Given the description of an element on the screen output the (x, y) to click on. 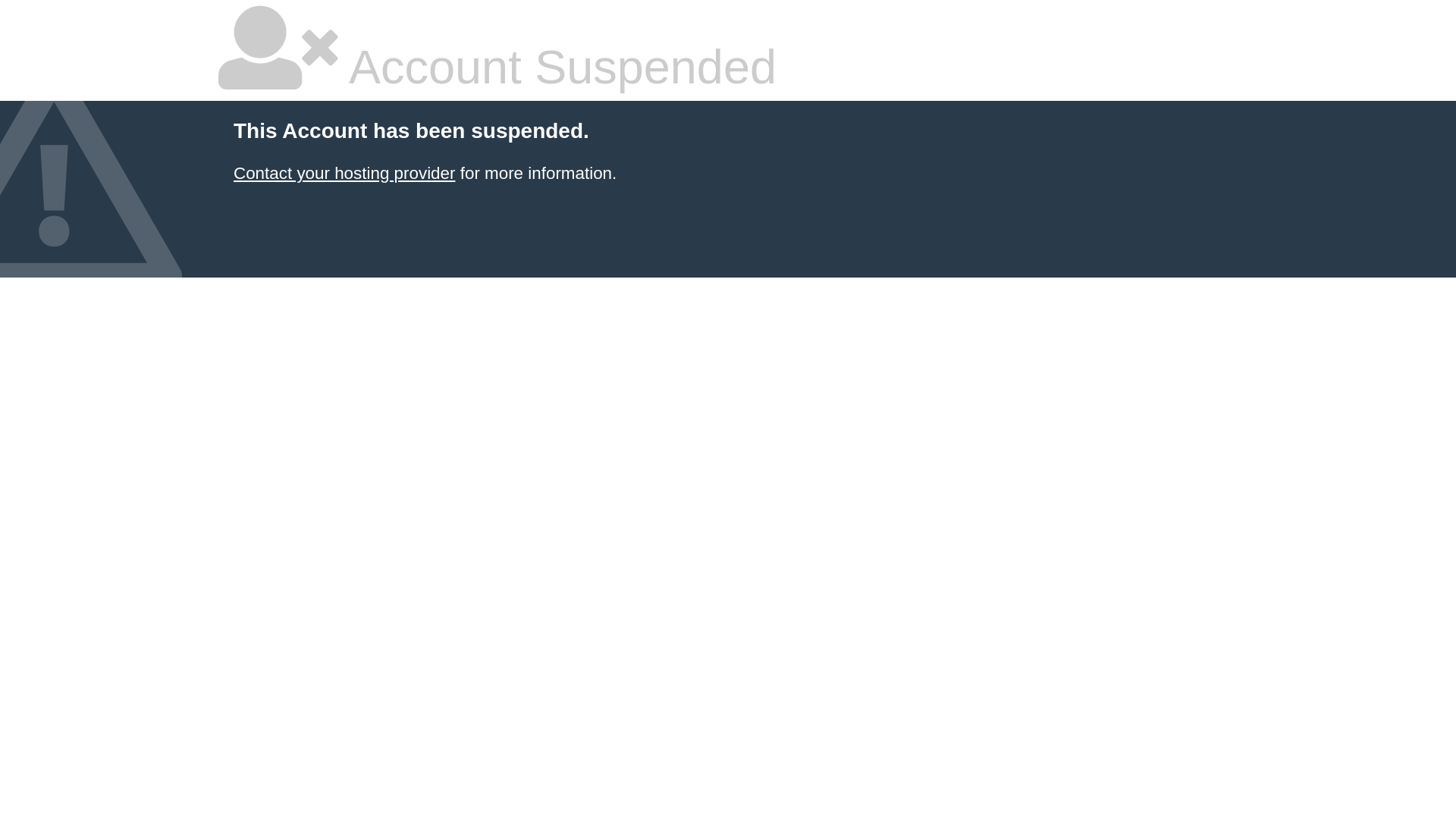
Contact your hosting provider Element type: text (344, 172)
